Given the description of an element on the screen output the (x, y) to click on. 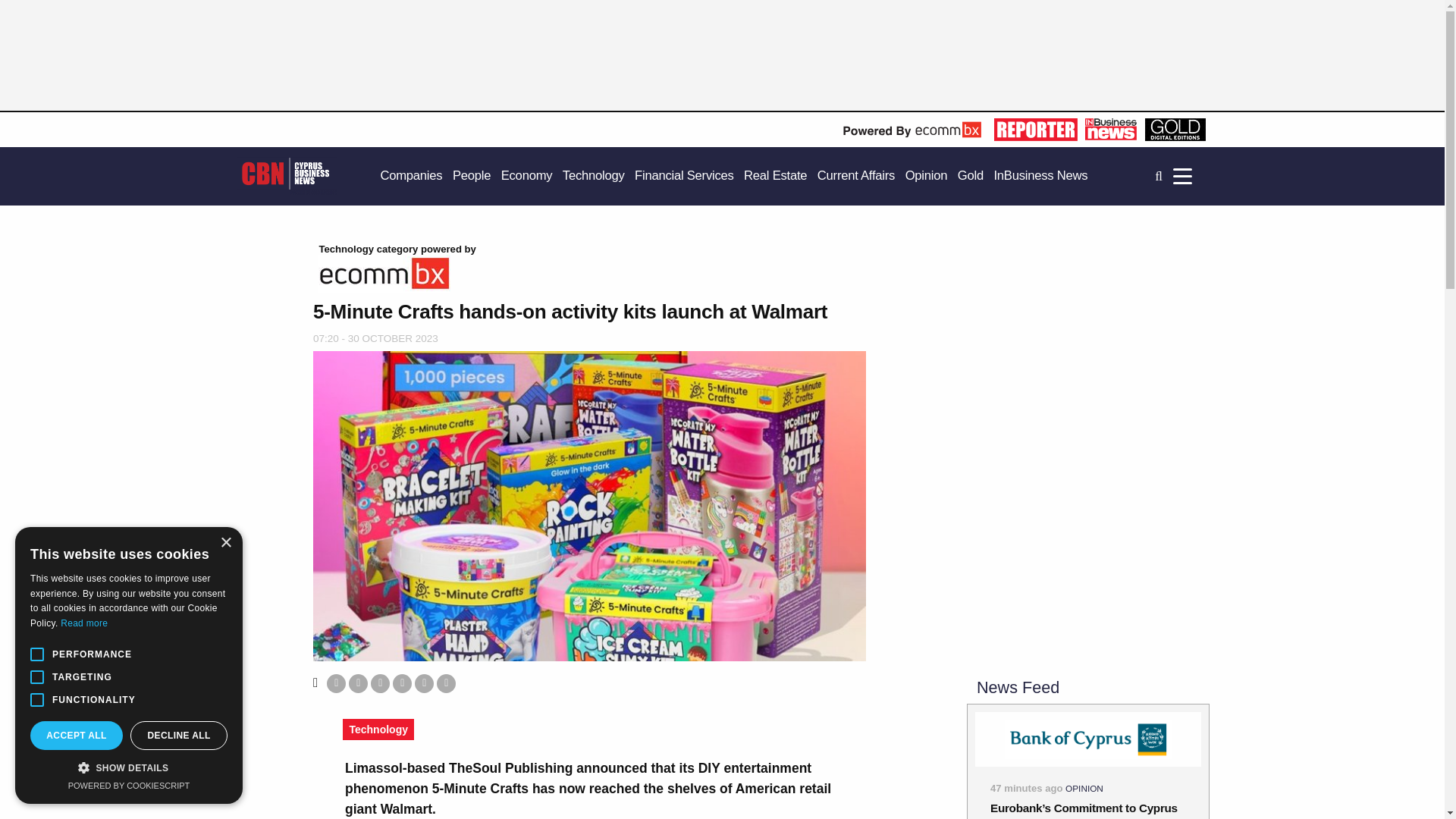
People (471, 176)
Financial Services (684, 176)
Gold (970, 176)
Real Estate (775, 176)
3rd party ad content (1088, 345)
Economy (526, 176)
InBusiness News (1040, 176)
Consent Management Platform (129, 785)
3rd party ad content (549, 62)
Current Affairs (855, 176)
Companies (411, 176)
Opinion (926, 176)
Technology (593, 176)
3rd party ad content (1088, 557)
